Given the description of an element on the screen output the (x, y) to click on. 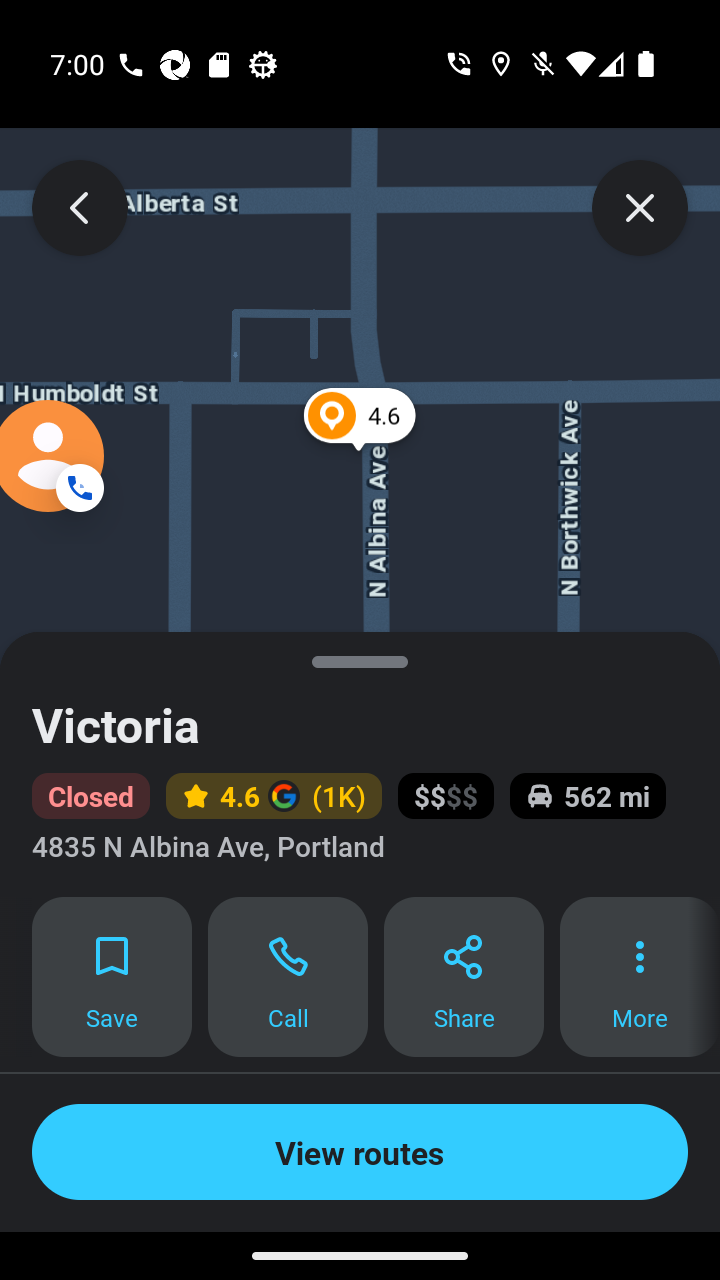
Save (111, 977)
Call (287, 977)
Share (463, 977)
More (640, 977)
View routes (359, 1151)
